Given the description of an element on the screen output the (x, y) to click on. 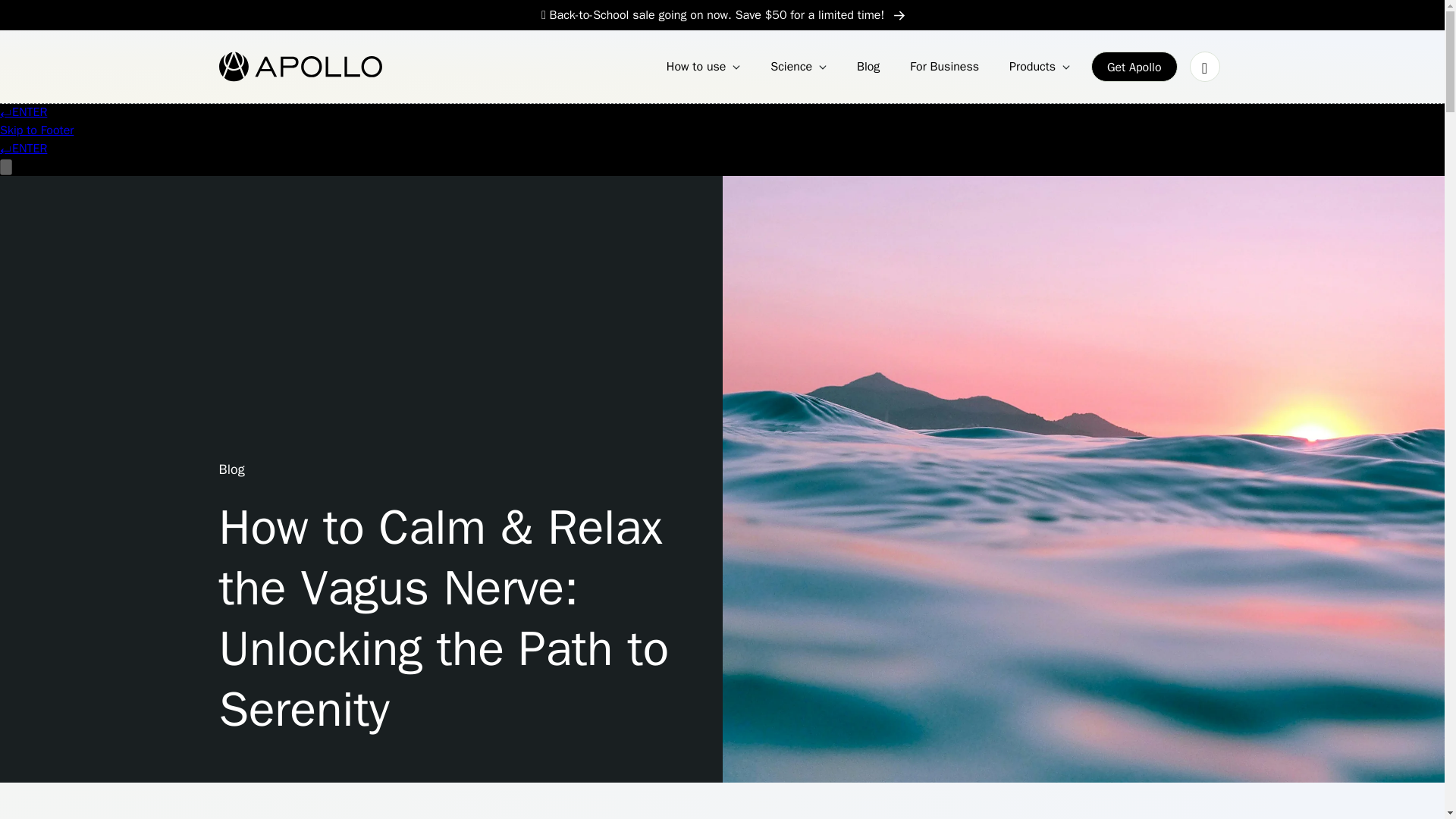
Get Apollo (1133, 66)
Right Arrow Icon. (899, 15)
How to use Down Arrow Icon. (703, 66)
Science Down Arrow Icon. (798, 66)
For Business (944, 66)
Down Arrow Icon. (822, 67)
Products Down Arrow Icon. (1039, 66)
Blog (867, 66)
